Given the description of an element on the screen output the (x, y) to click on. 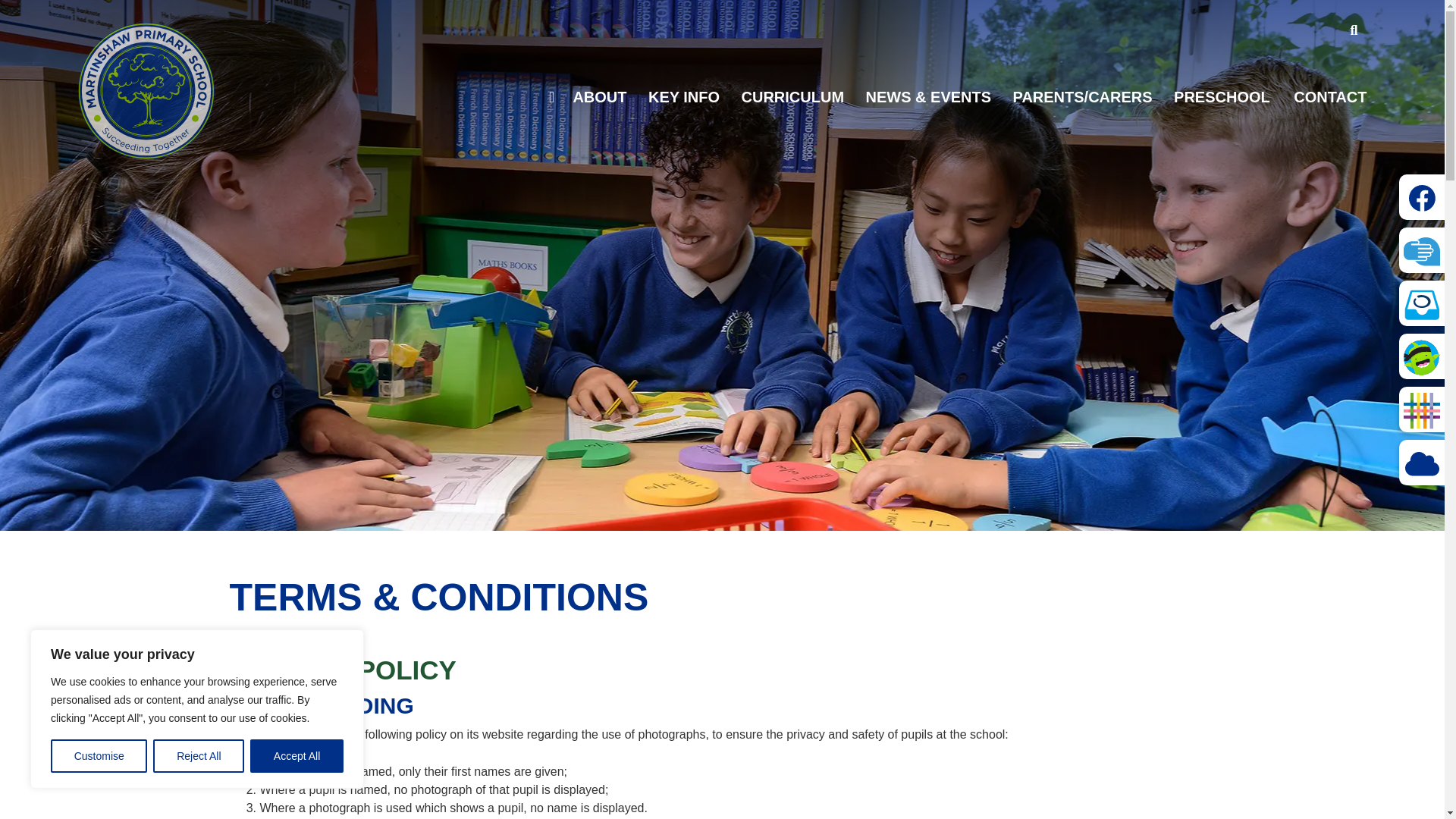
Accept All (296, 756)
Reject All (198, 756)
ABOUT (599, 96)
Search this website (1353, 30)
Customise (98, 756)
Search Website (1353, 30)
KEY INFO (683, 96)
